Given the description of an element on the screen output the (x, y) to click on. 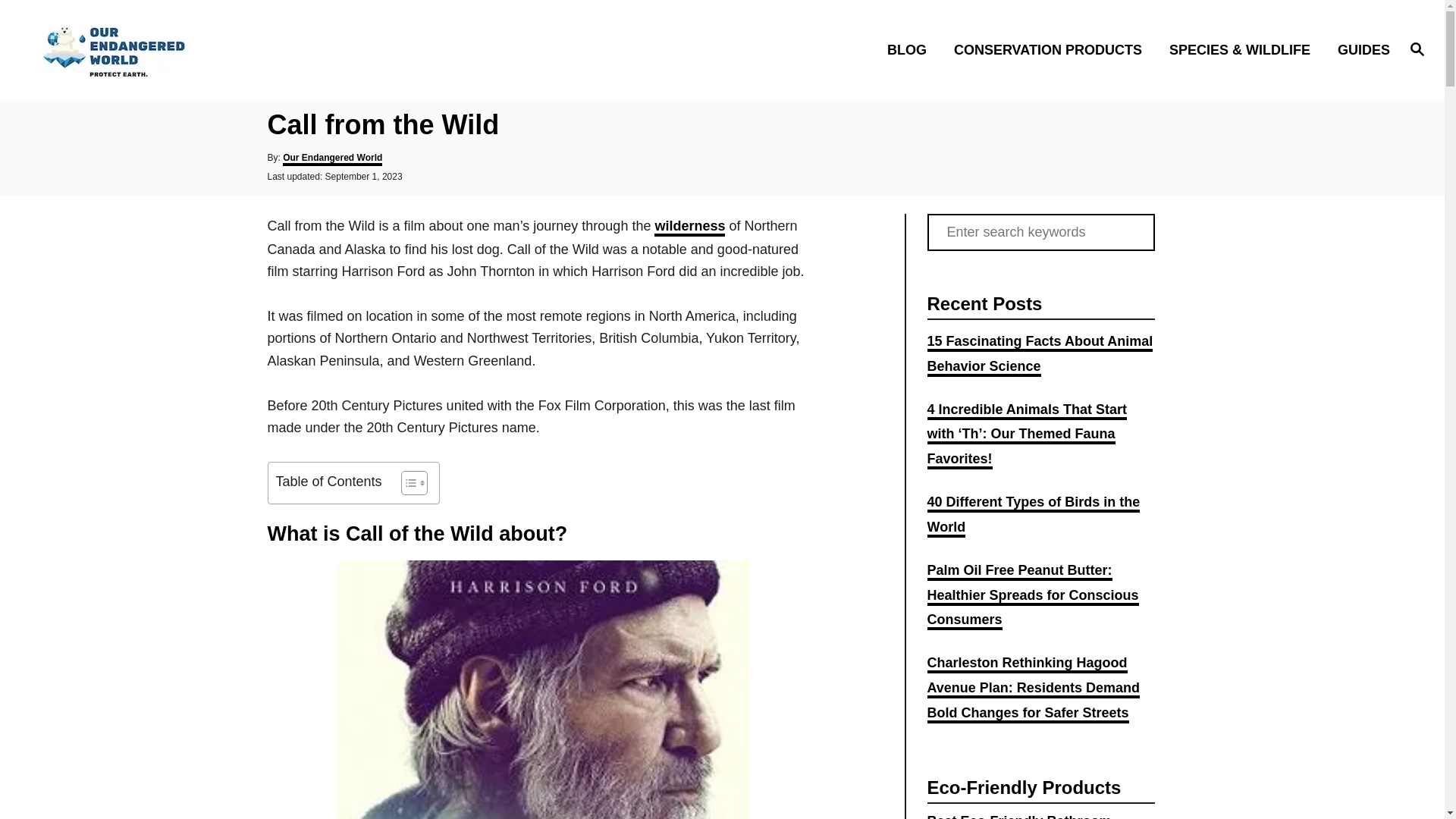
wilderness (689, 227)
Our Endangered World (331, 159)
BLOG (910, 49)
Magnifying Glass (1416, 48)
Our Endangered World (204, 49)
the call of the wild (543, 689)
GUIDES (1358, 49)
CONSERVATION PRODUCTS (1052, 49)
